Given the description of an element on the screen output the (x, y) to click on. 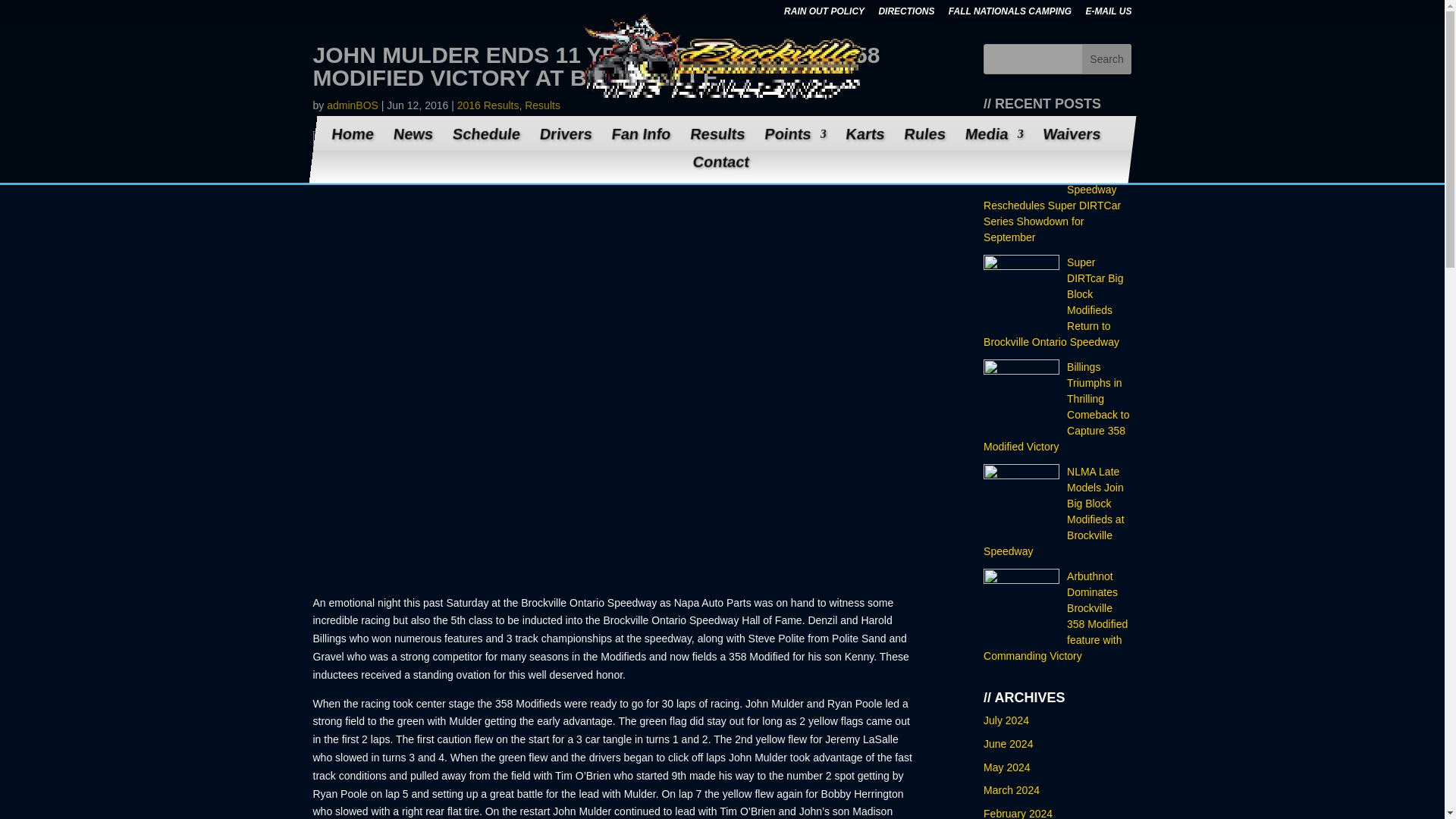
Rules (921, 142)
Search (1106, 59)
DIRECTIONS (905, 14)
FALL NATIONALS CAMPING (1010, 14)
adminBOS (352, 105)
Posts by adminBOS (352, 105)
RAIN OUT POLICY (824, 14)
Waivers (1068, 142)
Search (1106, 59)
Results (542, 105)
Karts (862, 142)
2016 Results (488, 105)
Media (991, 142)
Points (792, 142)
Drivers (563, 142)
